Given the description of an element on the screen output the (x, y) to click on. 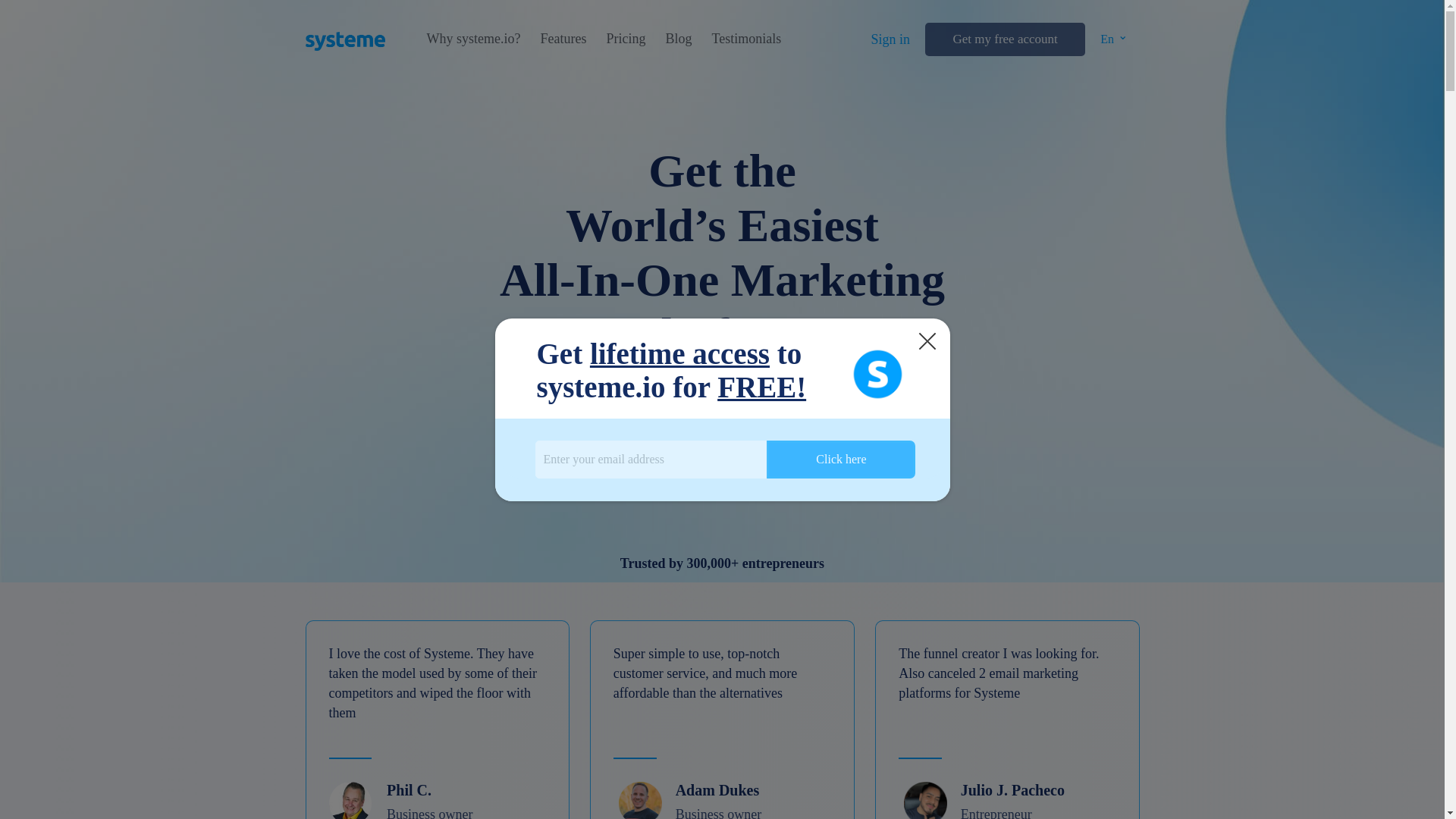
Testimonials (745, 38)
Sign in (890, 39)
Features (563, 38)
Get my free account (1004, 39)
Why systeme.io? (472, 38)
Blog (678, 38)
Pricing (625, 38)
